Given the description of an element on the screen output the (x, y) to click on. 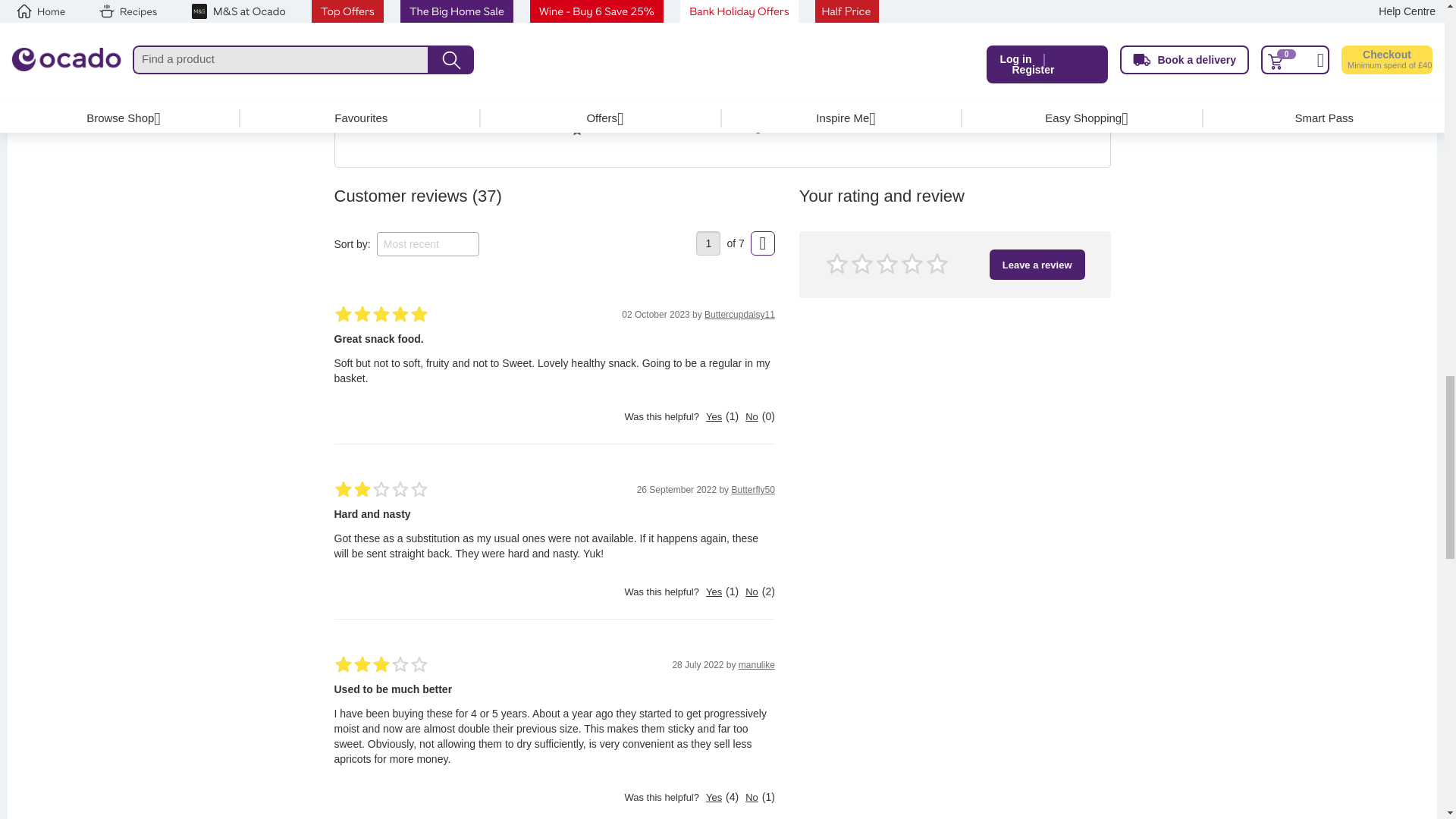
Reviews 0.4 of 5 (597, 69)
1 (707, 242)
Reviews 0.4 of 5 (597, 88)
2 star reviews (569, 110)
Reviews 3.6 of 5 (645, 49)
4 star reviews (556, 70)
5 star reviews (550, 51)
3 star reviews (563, 91)
